Given the description of an element on the screen output the (x, y) to click on. 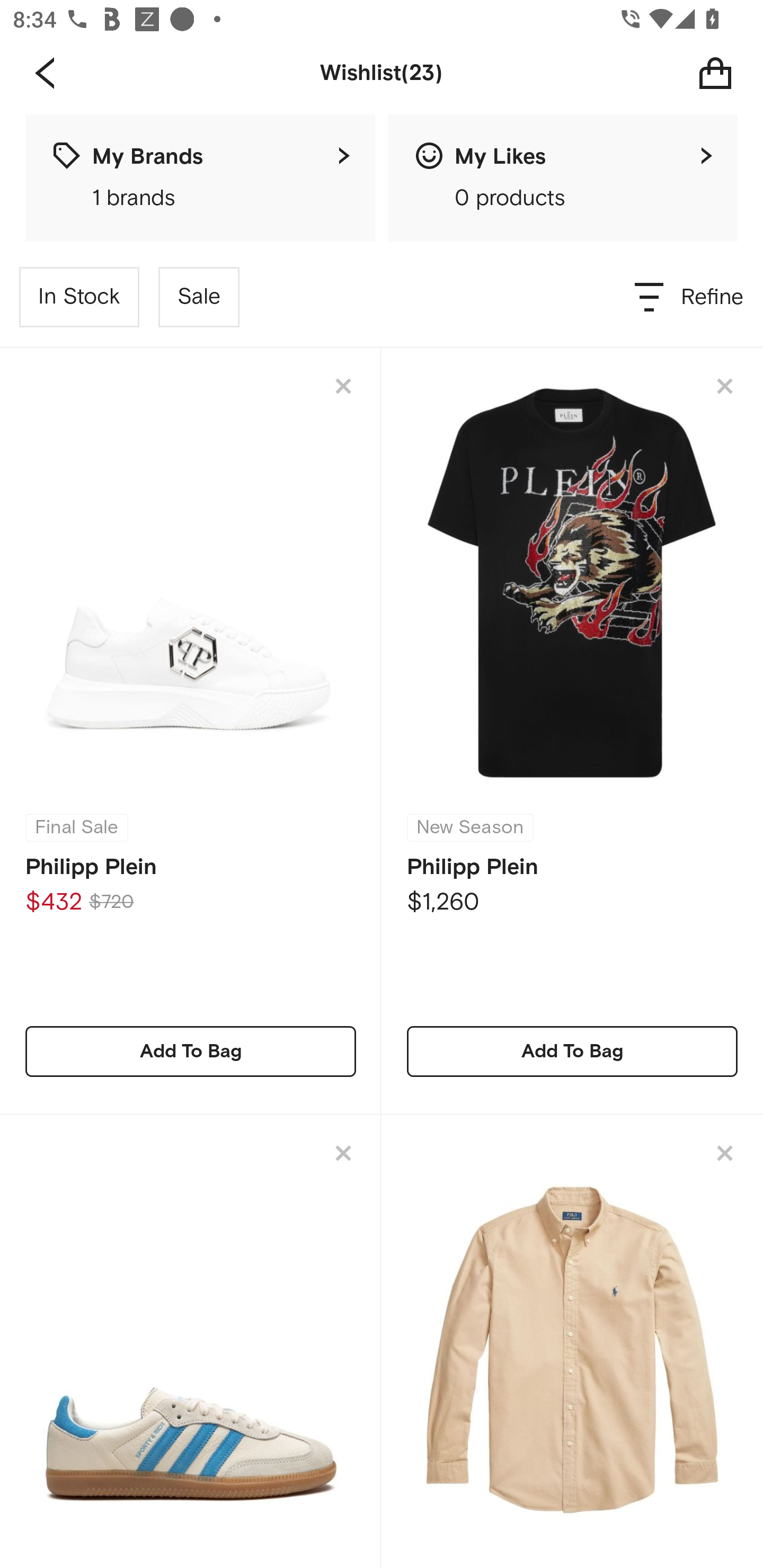
My Brands 1 brands (200, 177)
My Likes 0 products (562, 177)
In Stock (79, 296)
Sale (198, 296)
Refine (690, 296)
Final Sale Philipp Plein $432 $720 Add To Bag (190, 731)
New Season Philipp Plein $1,260 Add To Bag (572, 731)
Add To Bag (190, 1050)
Add To Bag (571, 1050)
